Given the description of an element on the screen output the (x, y) to click on. 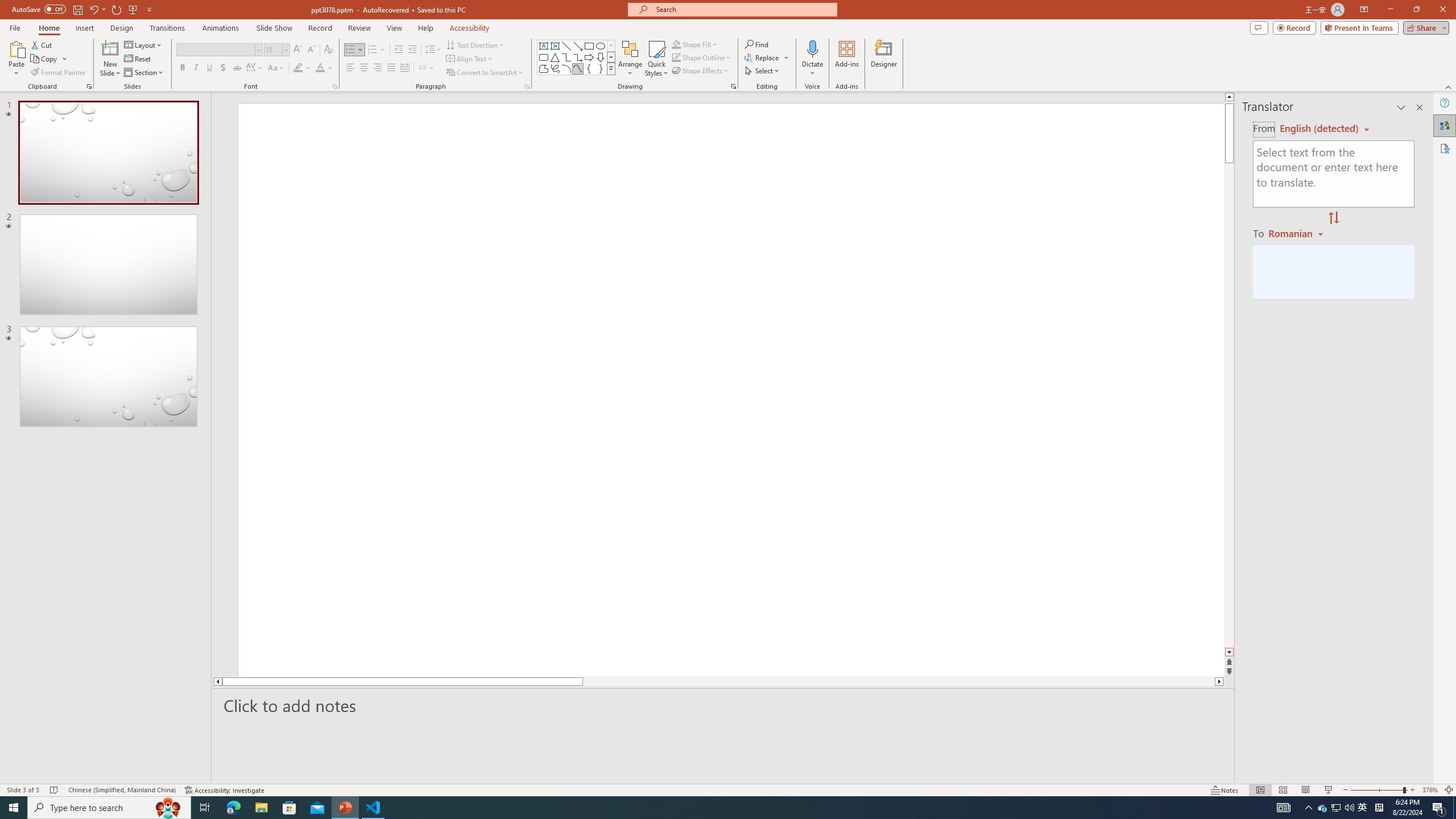
Open (285, 49)
Czech (detected) (1319, 128)
Decrease Indent (398, 49)
Numbering (372, 49)
Paragraph... (526, 85)
Left Brace (589, 68)
Translator (1444, 125)
Font (215, 49)
Title TextBox (927, 542)
Format Painter (58, 72)
Distributed (404, 67)
